Given the description of an element on the screen output the (x, y) to click on. 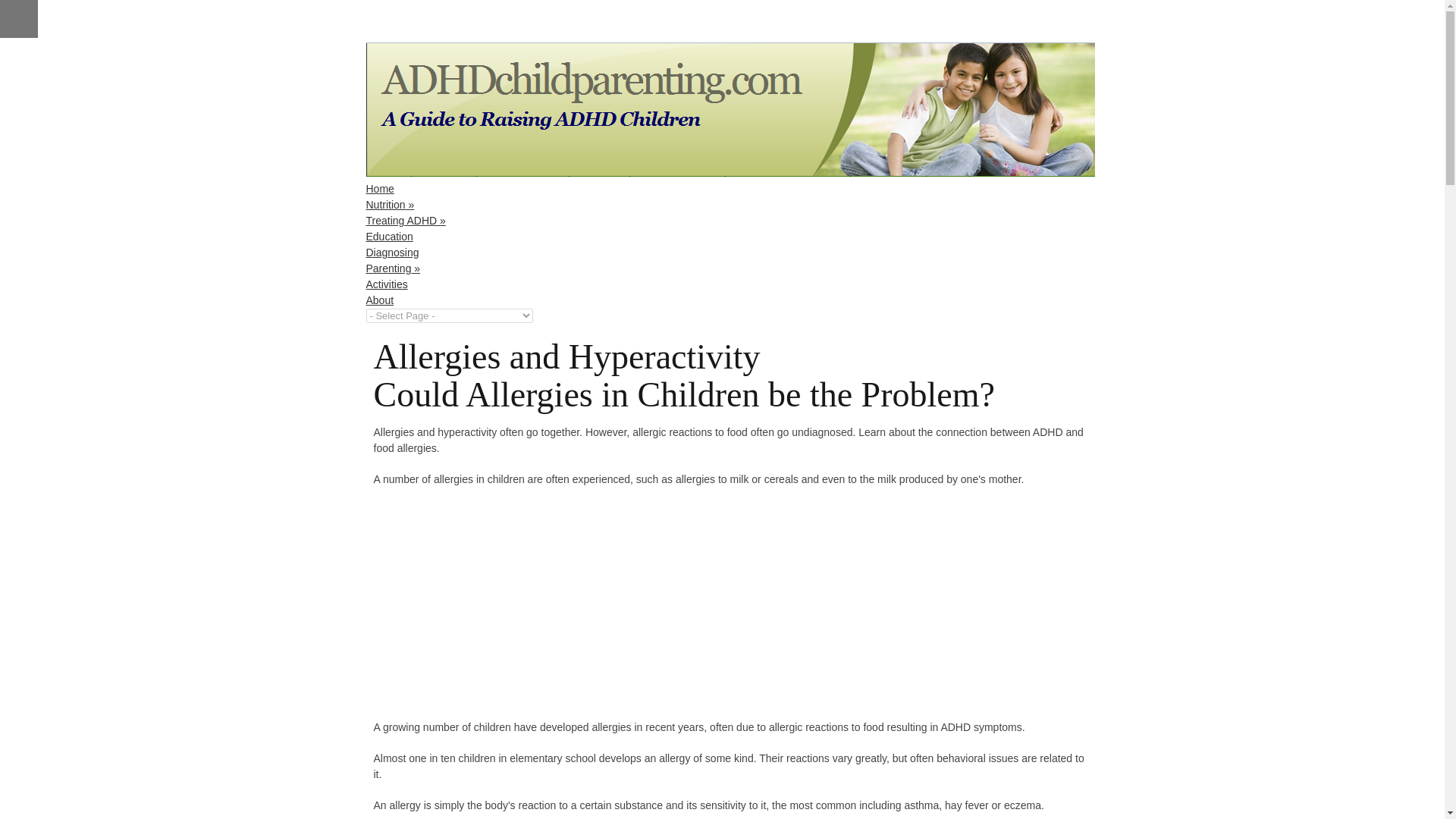
Diagnosing (392, 252)
About (379, 300)
Home (379, 188)
Education (388, 236)
Advertisement (499, 608)
Activities (386, 284)
